Given the description of an element on the screen output the (x, y) to click on. 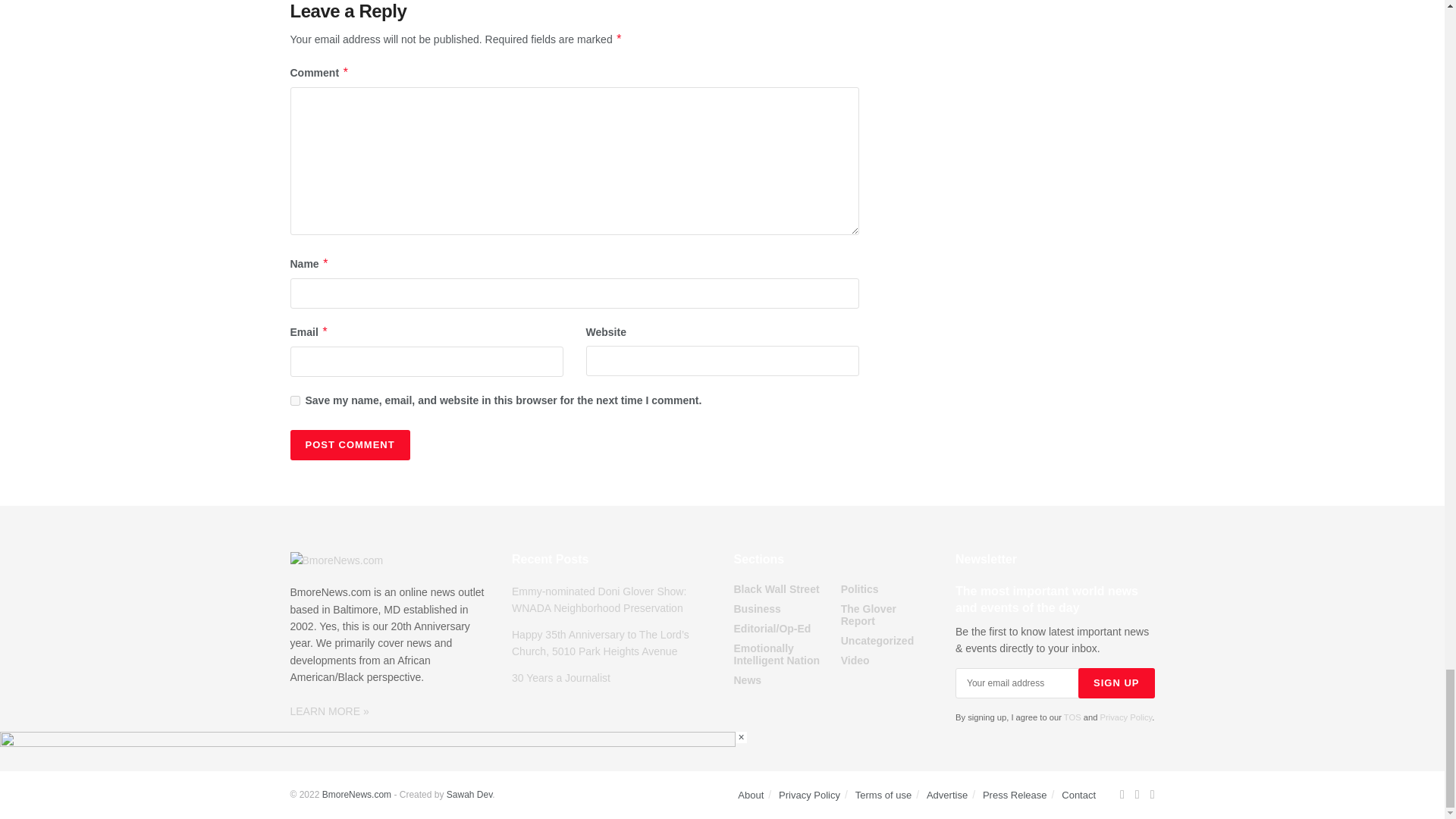
Post Comment (349, 444)
Sign up (1116, 683)
yes (294, 400)
